Given the description of an element on the screen output the (x, y) to click on. 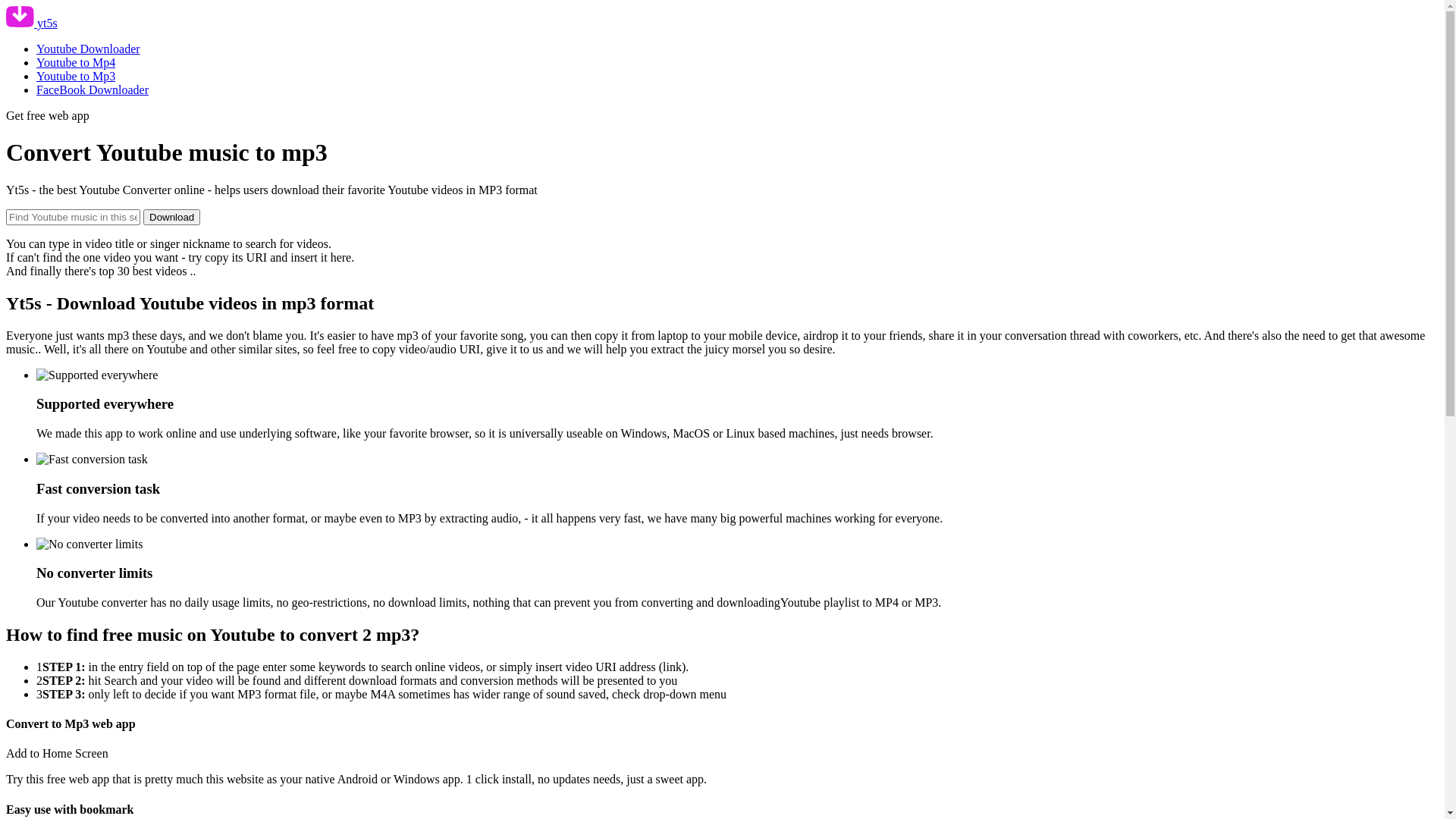
Youtube Downloader Element type: text (88, 48)
yt5s Element type: text (31, 22)
Youtube to Mp4 Element type: text (75, 62)
FaceBook Downloader Element type: text (92, 89)
Download Element type: text (171, 217)
Youtube to Mp3 Element type: text (75, 75)
